Given the description of an element on the screen output the (x, y) to click on. 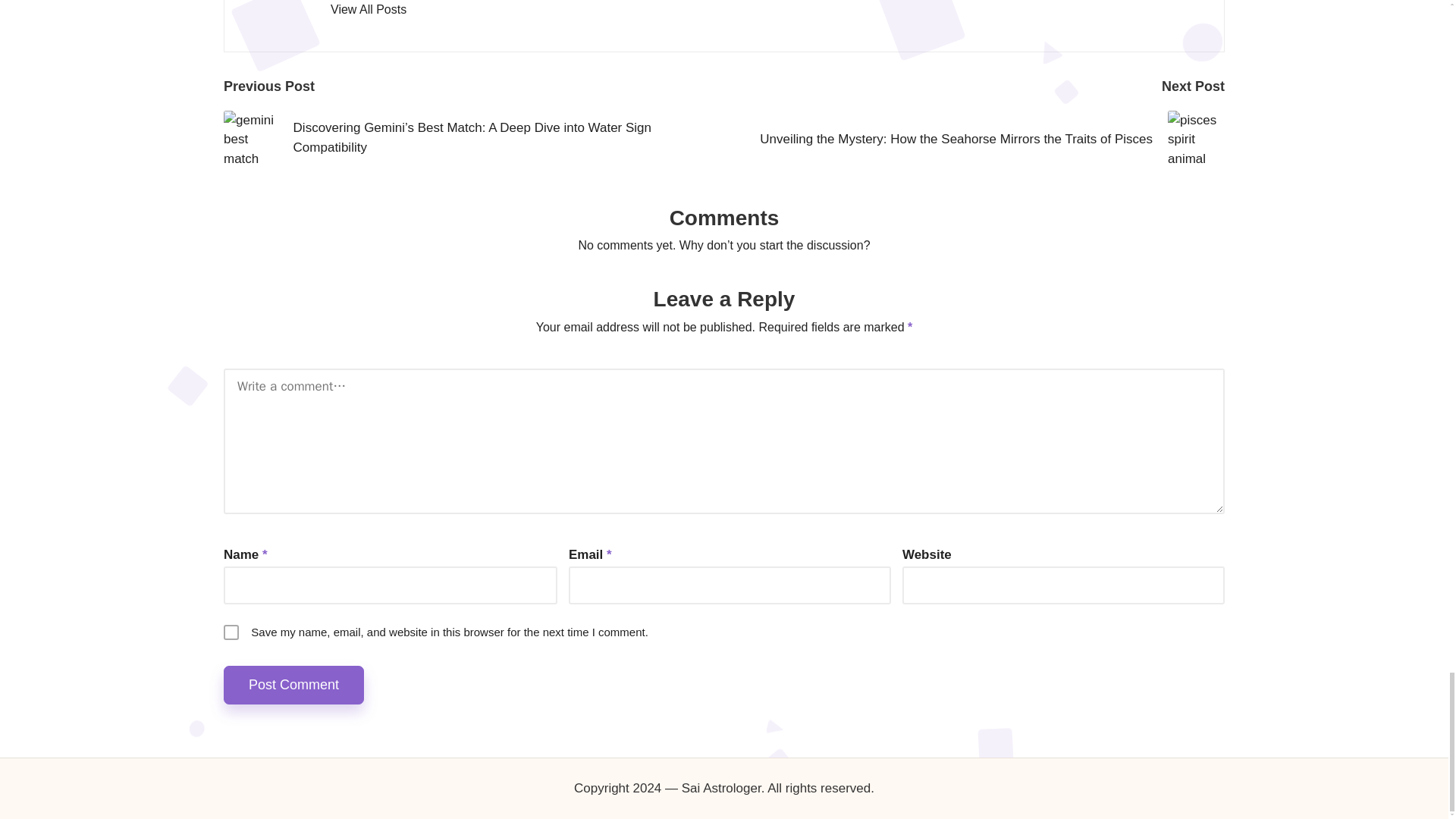
Post Comment (294, 684)
yes (231, 631)
